Given the description of an element on the screen output the (x, y) to click on. 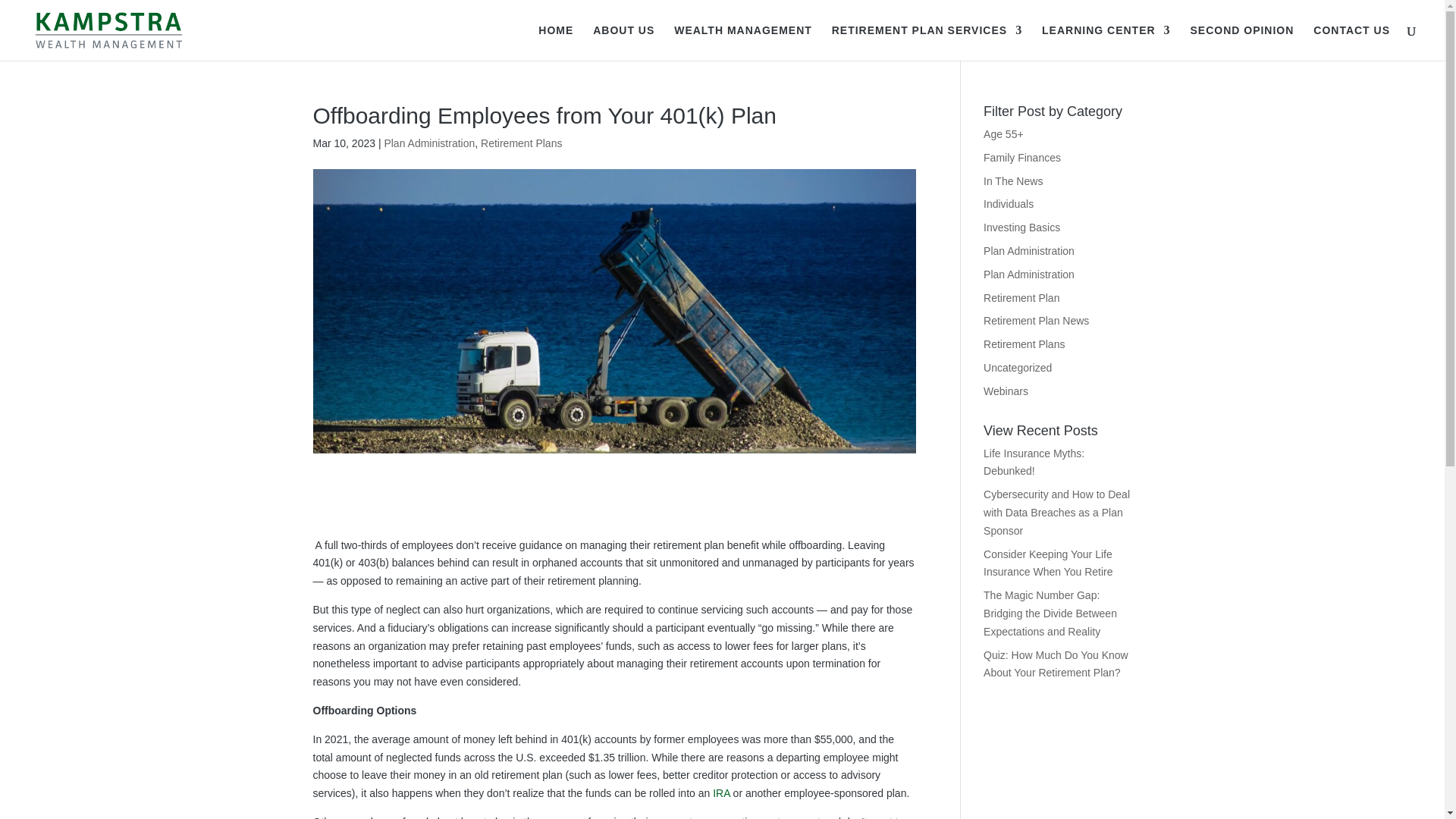
SECOND OPINION (1241, 42)
Family Finances (1022, 157)
Consider Keeping Your Life Insurance When You Retire (1048, 562)
In The News (1013, 181)
HOME (555, 42)
Retirement Plans (1024, 344)
LEARNING CENTER (1106, 42)
Retirement Plans (521, 143)
WEALTH MANAGEMENT (743, 42)
